Given the description of an element on the screen output the (x, y) to click on. 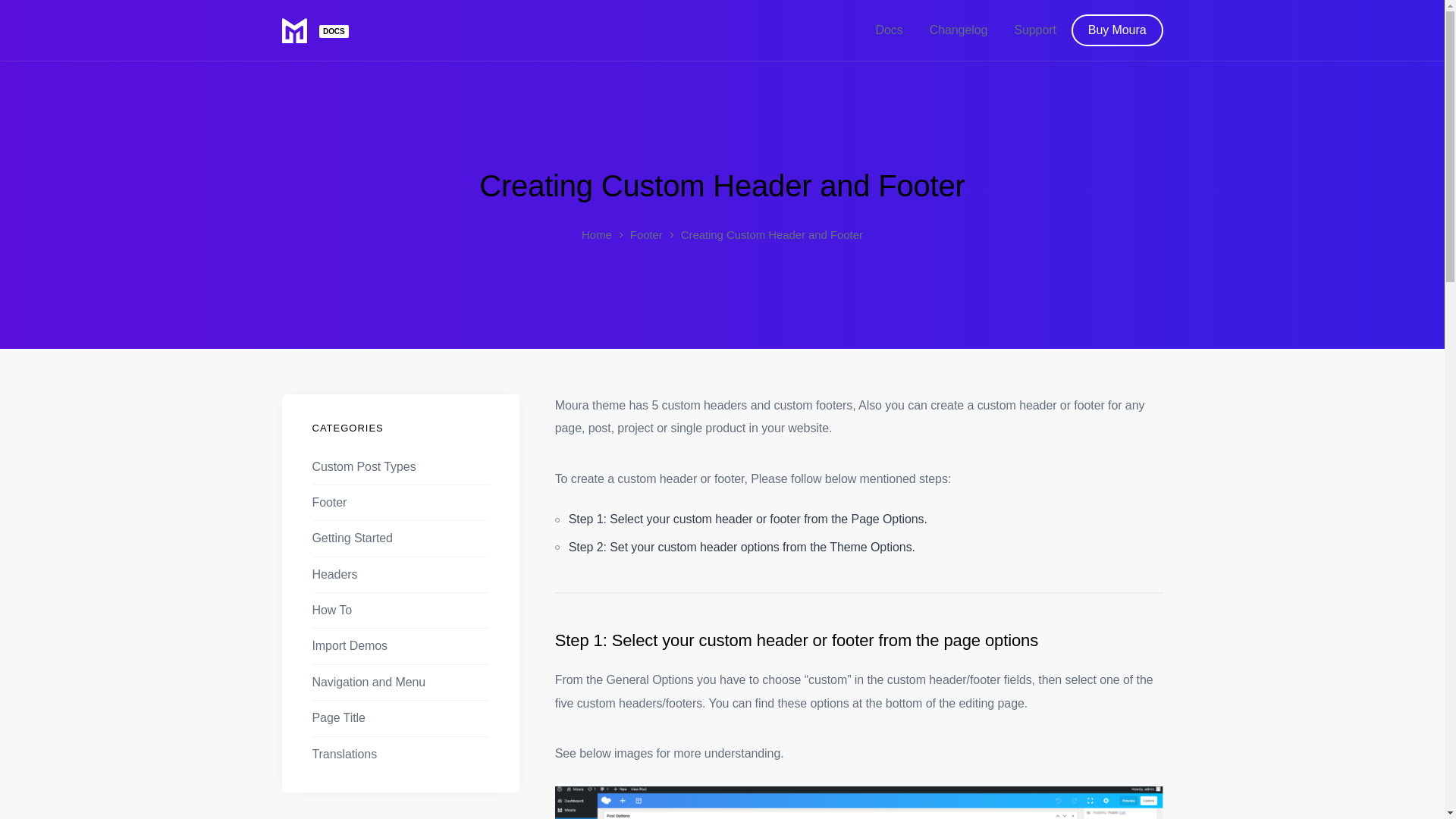
Headers (335, 574)
Navigation and Menu (369, 681)
Footer (330, 502)
Creating Custom Header and Footer (721, 185)
Changelog (958, 30)
Custom Post Types (364, 465)
Import Demos (350, 645)
Home (595, 235)
Page Title (339, 717)
